Given the description of an element on the screen output the (x, y) to click on. 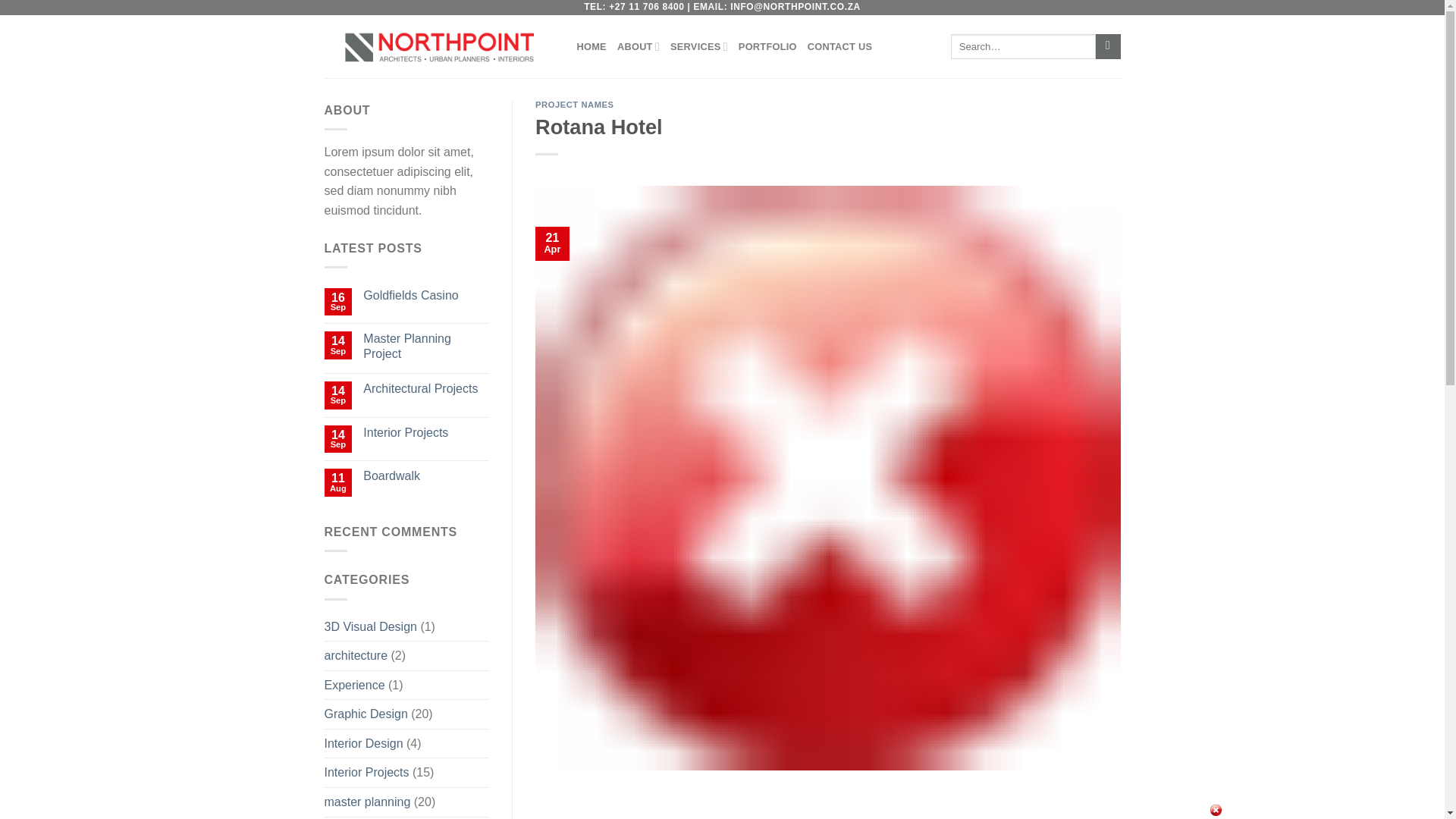
3D Visual Design (370, 626)
CONTACT US (840, 46)
Master Planning (368, 818)
Interior Projects (366, 772)
Goldfields Casino (425, 295)
PORTFOLIO (767, 46)
HOME (590, 46)
Interior Projects (425, 432)
architecture (356, 655)
Experience (354, 685)
